Given the description of an element on the screen output the (x, y) to click on. 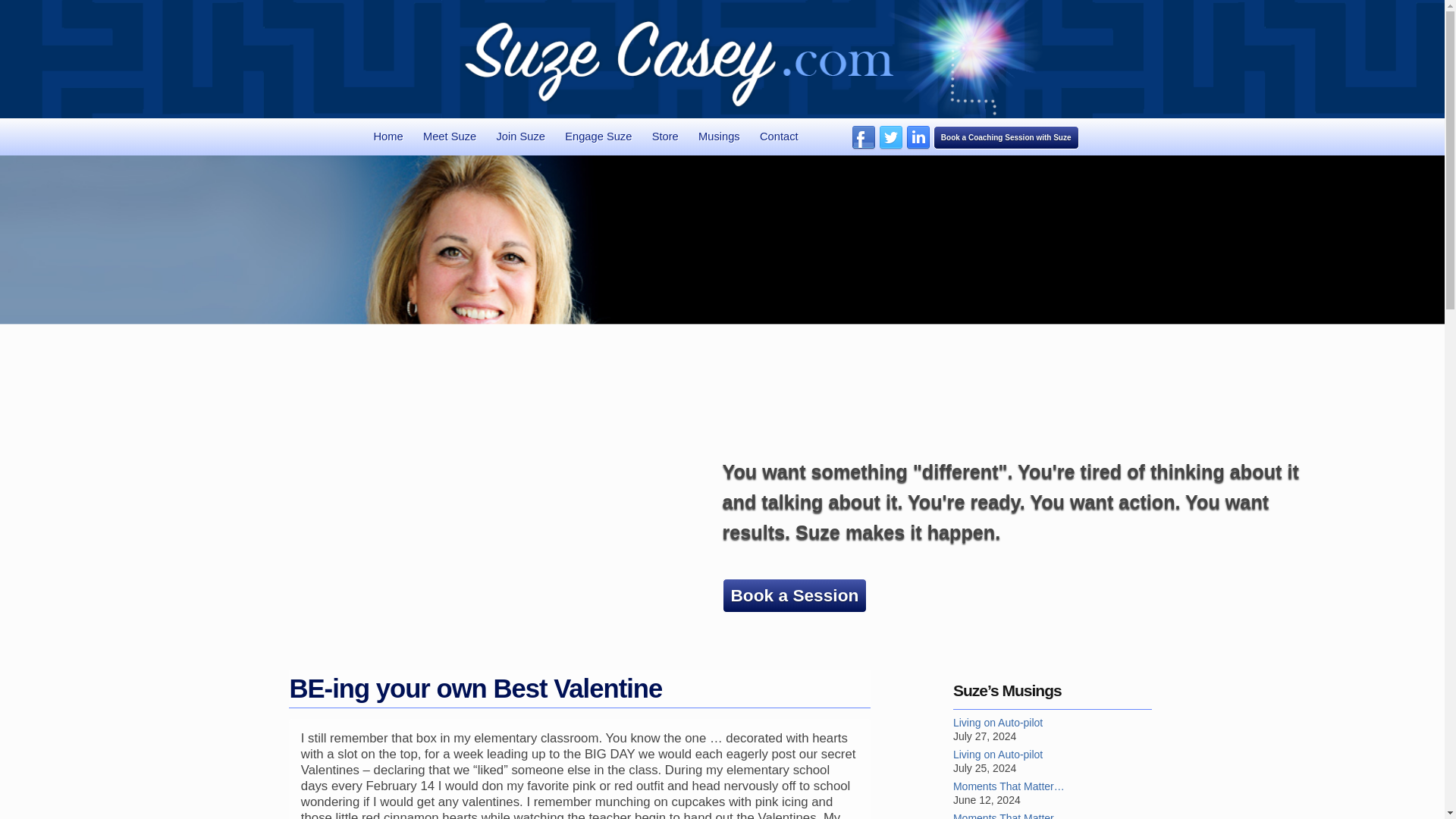
Like Suze on Facebook (863, 146)
Book a Coaching Session with Suze (1005, 137)
Store (665, 136)
Book a Coaching Session with Suze (1005, 137)
Home (387, 136)
Connect Suze on LinkedIn (917, 146)
Contact (779, 136)
Join Suze (520, 136)
Living on Auto-pilot (1052, 754)
Meet Suze (448, 136)
Engage Suze (598, 136)
Follow Suze on Twitter (890, 146)
Living on Auto-pilot (1052, 722)
Musings (719, 136)
Book a Session (794, 595)
